Given the description of an element on the screen output the (x, y) to click on. 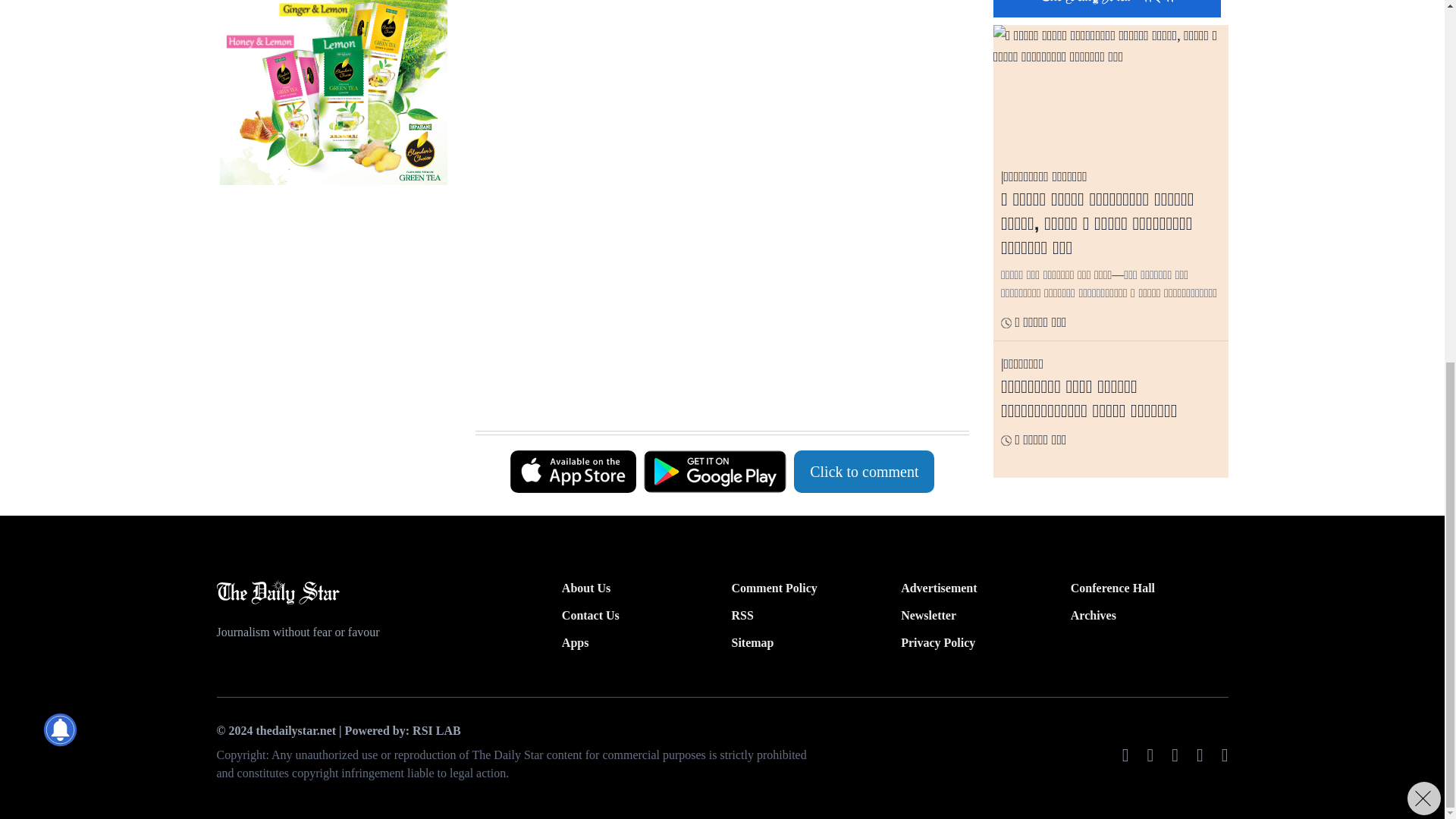
3rd party ad content (332, 294)
3rd party ad content (713, 252)
3rd party ad content (332, 92)
3rd party ad content (713, 71)
3rd party ad content (714, 392)
